Given the description of an element on the screen output the (x, y) to click on. 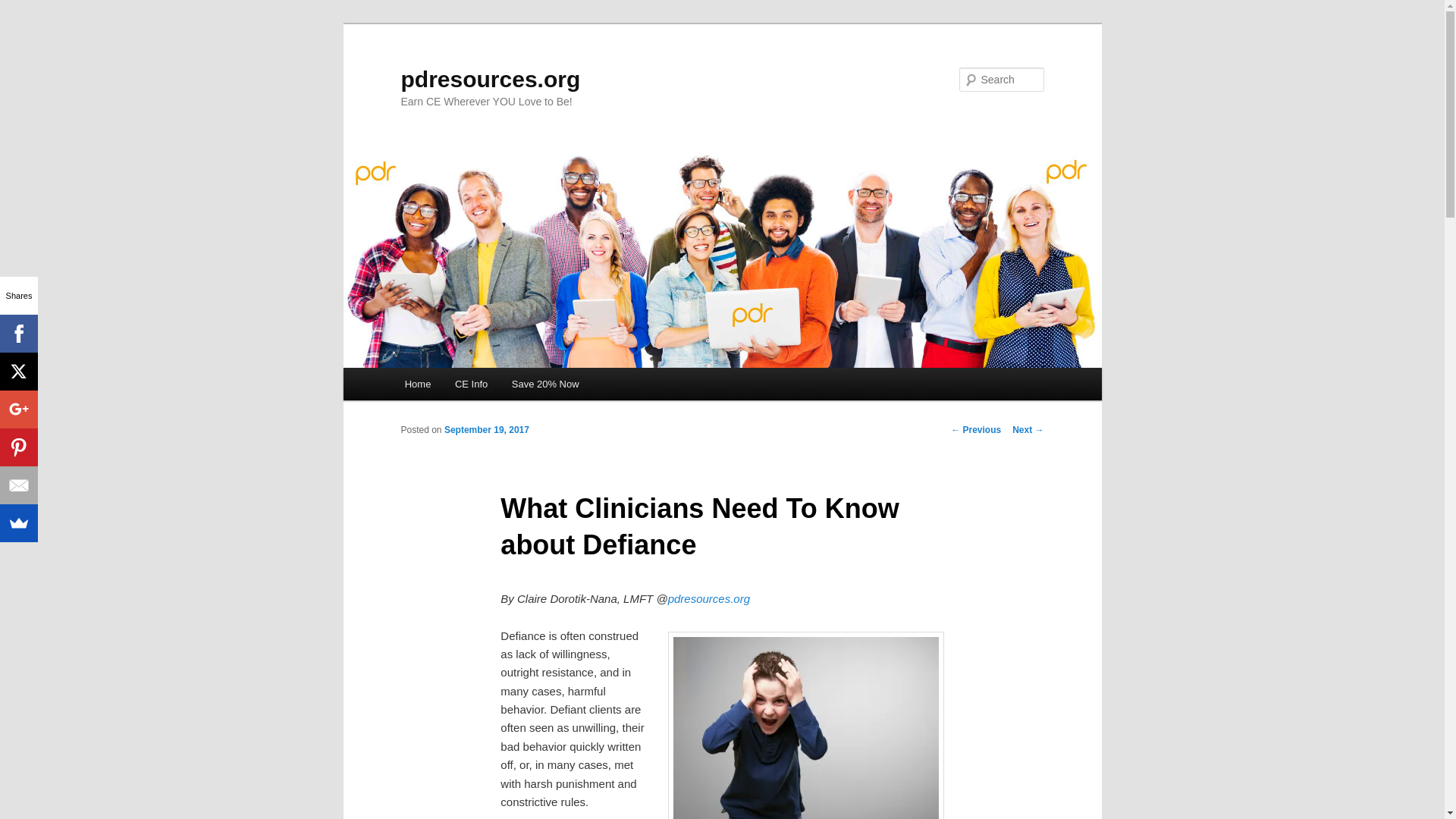
CE Info (470, 383)
Search (24, 8)
September 19, 2017 (486, 429)
Home (417, 383)
10:48 am (486, 429)
Facebook (18, 333)
X (18, 371)
pdresources.org (708, 598)
pdresources.org (489, 78)
